Given the description of an element on the screen output the (x, y) to click on. 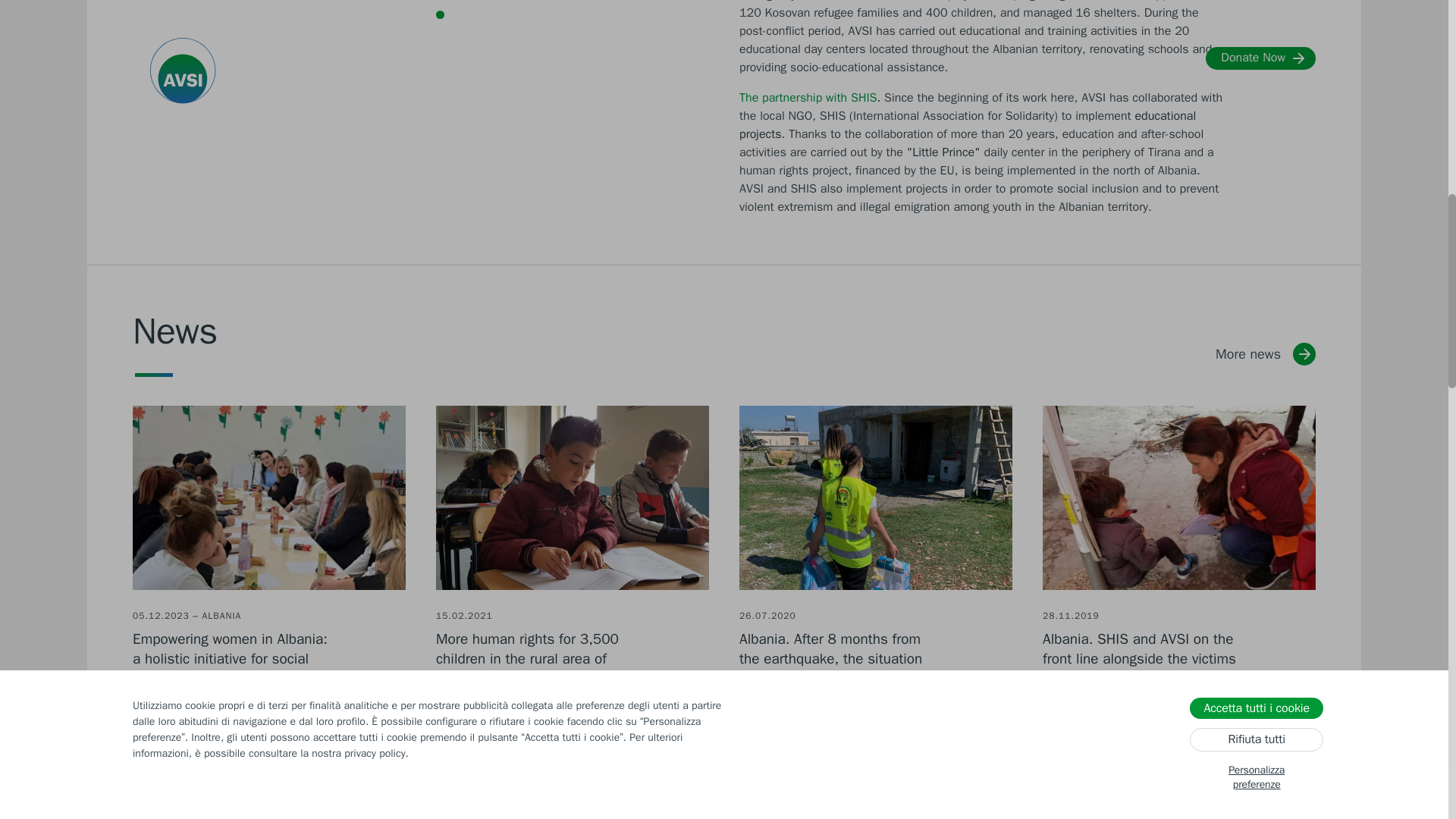
Accetta tutti i cookie (1256, 55)
privacy policy (373, 109)
Terremoto Albania Agen SIR (1179, 497)
Personalizza preferenze (1256, 131)
2020. Albania 1 (875, 497)
Rifiuta tutti (1256, 92)
